Given the description of an element on the screen output the (x, y) to click on. 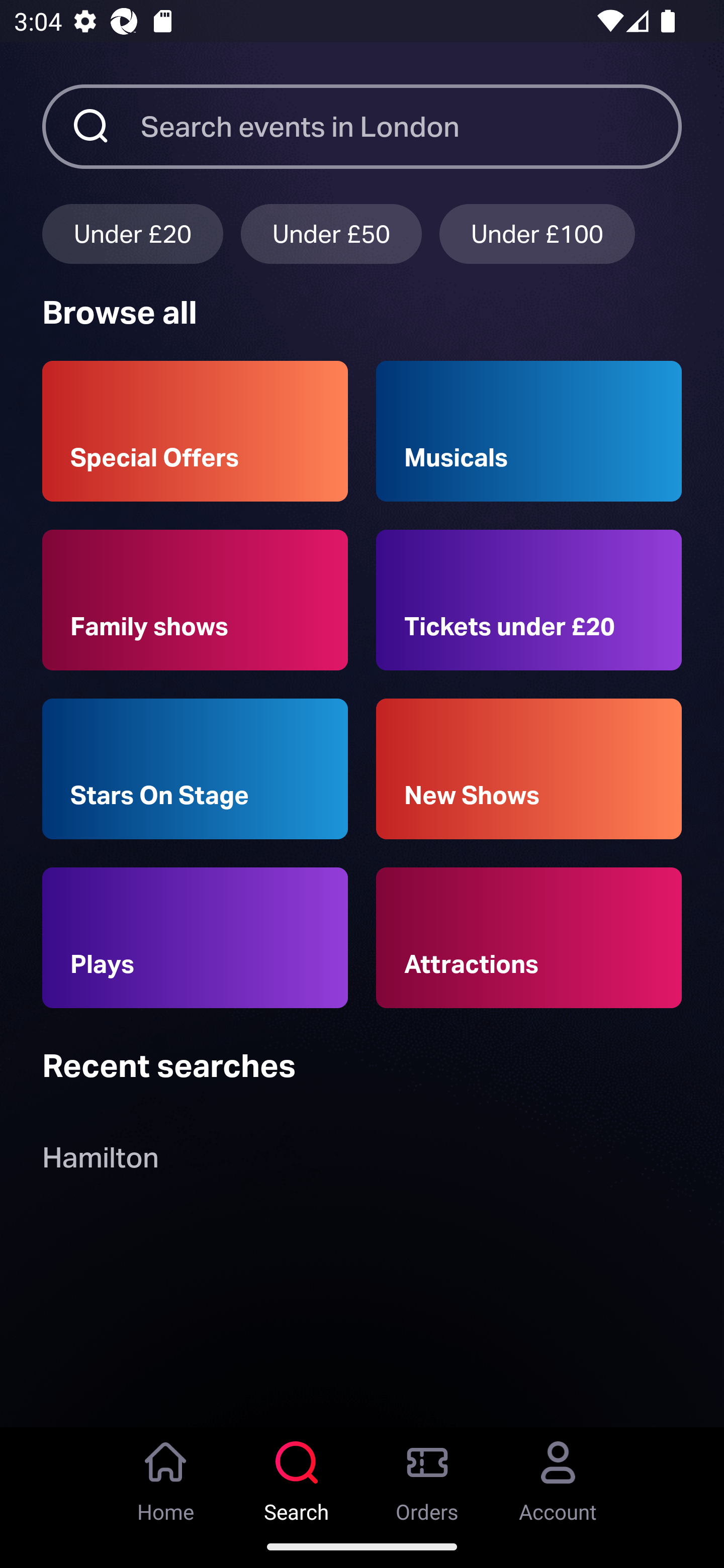
Search events in London (411, 126)
Under £20 (131, 233)
Under £50 (331, 233)
Under £100 (536, 233)
Special Offers (194, 430)
Musicals (528, 430)
Family shows (194, 600)
Tickets under £20  (528, 600)
Stars On Stage (194, 768)
New Shows (528, 768)
Plays (194, 937)
Attractions  (528, 937)
Hamilton (99, 1161)
Home (165, 1475)
Orders (427, 1475)
Account (558, 1475)
